Given the description of an element on the screen output the (x, y) to click on. 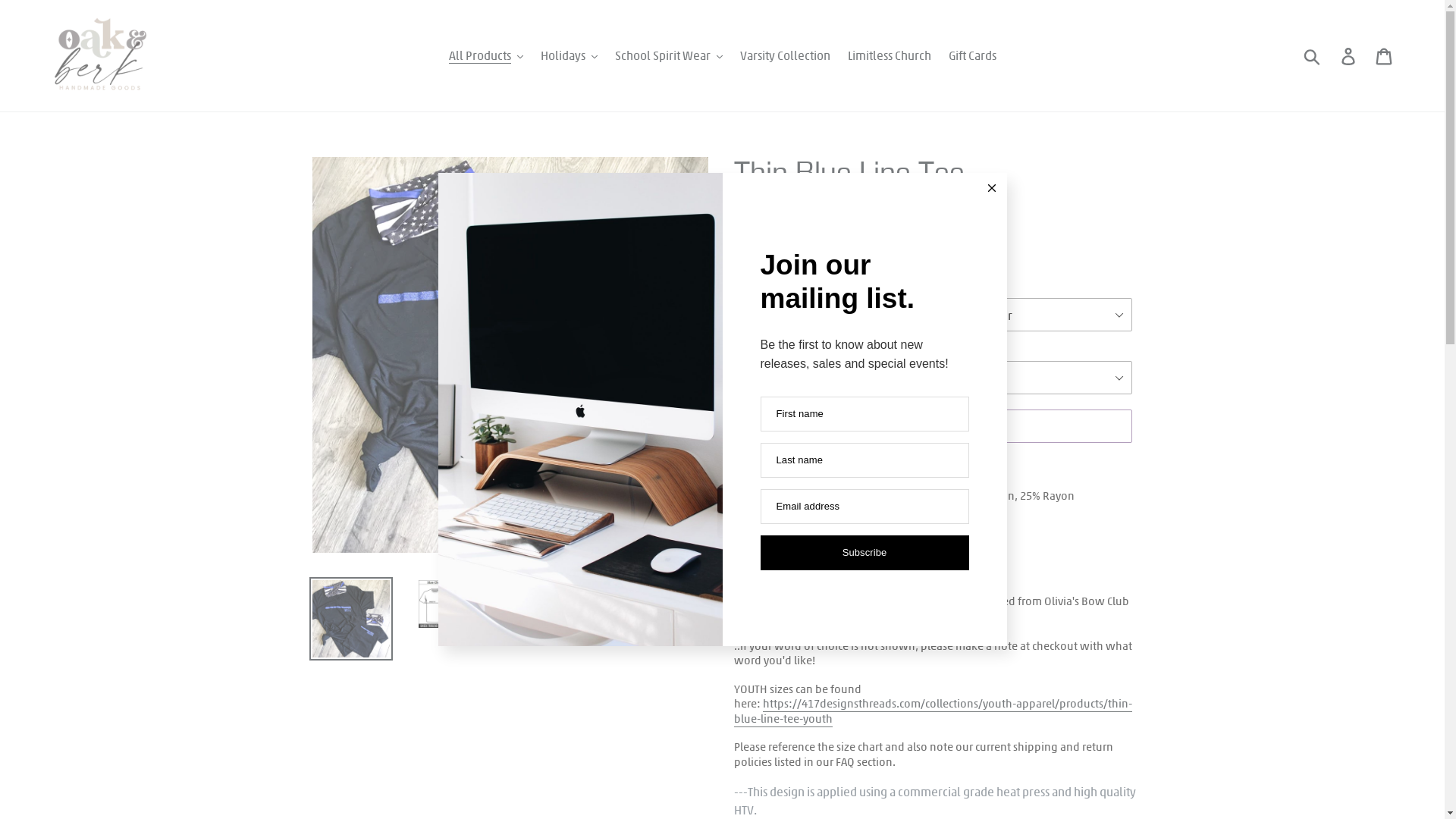
Shipping Element type: text (756, 231)
Submit Element type: text (1312, 55)
Cart Element type: text (1384, 55)
Limitless Church Element type: text (889, 54)
Subscribe Element type: text (863, 552)
Log in Element type: text (1349, 55)
ADD TO CART Element type: text (934, 425)
Gift Cards Element type: text (971, 54)
Varsity Collection Element type: text (784, 54)
